Given the description of an element on the screen output the (x, y) to click on. 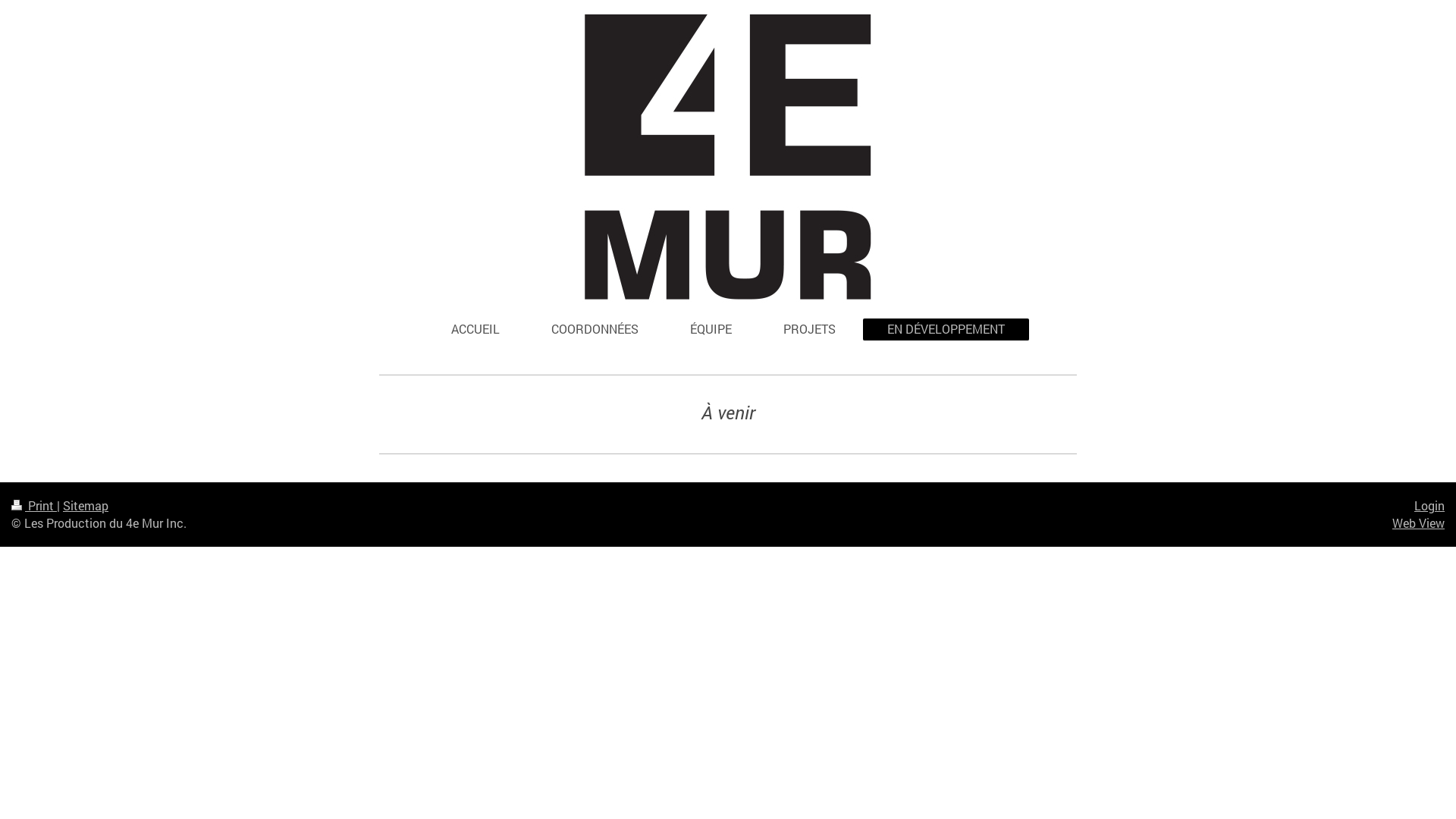
Login Element type: text (1429, 505)
PROJETS Element type: text (809, 328)
Sitemap Element type: text (85, 505)
ACCUEIL Element type: text (475, 328)
Print Element type: text (33, 505)
Web View Element type: text (1418, 522)
